Given the description of an element on the screen output the (x, y) to click on. 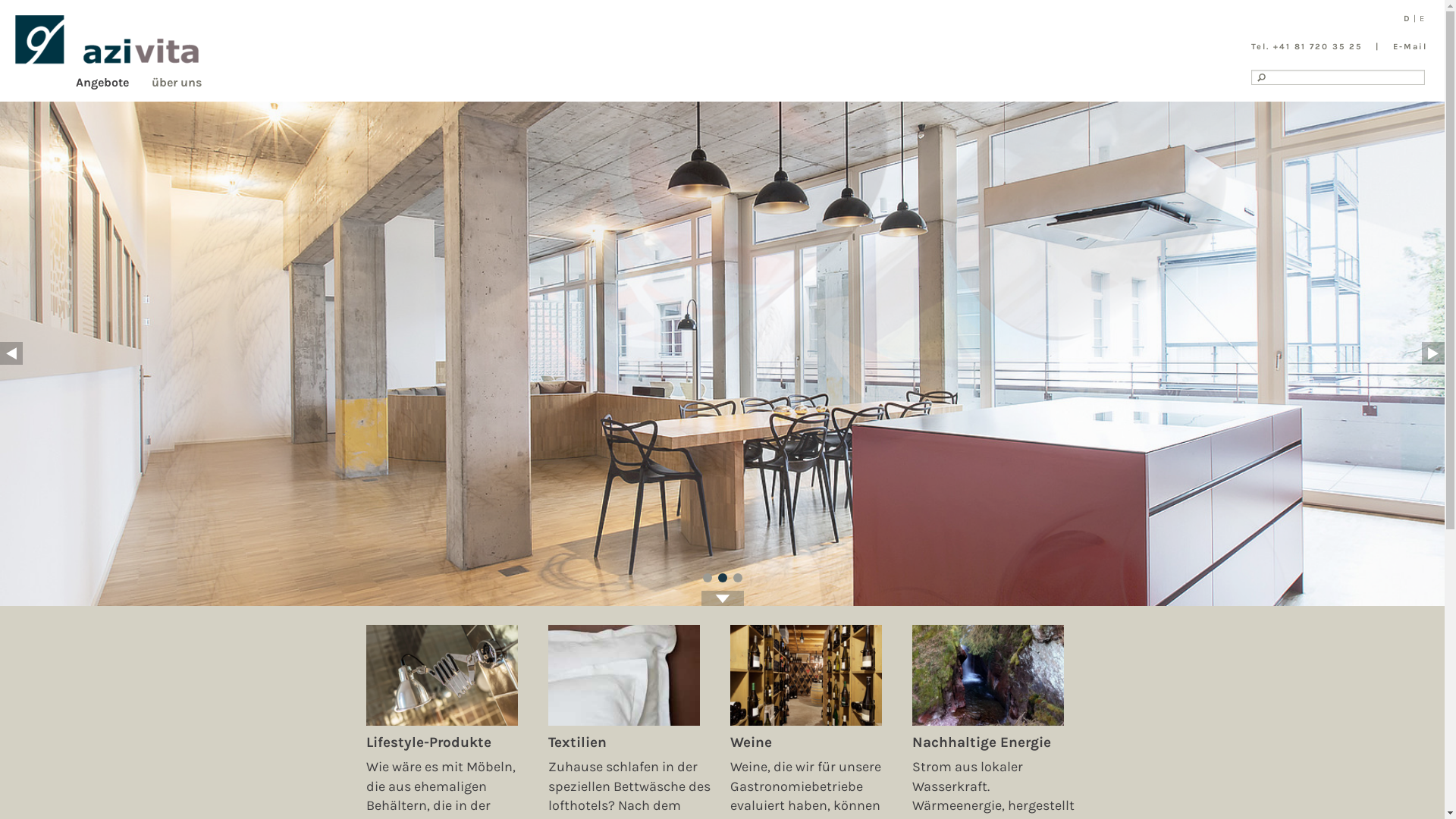
E Element type: text (1421, 18)
3 Element type: text (736, 577)
| Element type: text (1414, 18)
2 Element type: text (721, 577)
1 Element type: text (706, 577)
Next Element type: text (1432, 352)
Prev Element type: text (11, 352)
E-Mail Element type: text (1410, 46)
Angebote Element type: text (113, 79)
D Element type: text (1406, 18)
azivita Element type: hover (106, 39)
